Given the description of an element on the screen output the (x, y) to click on. 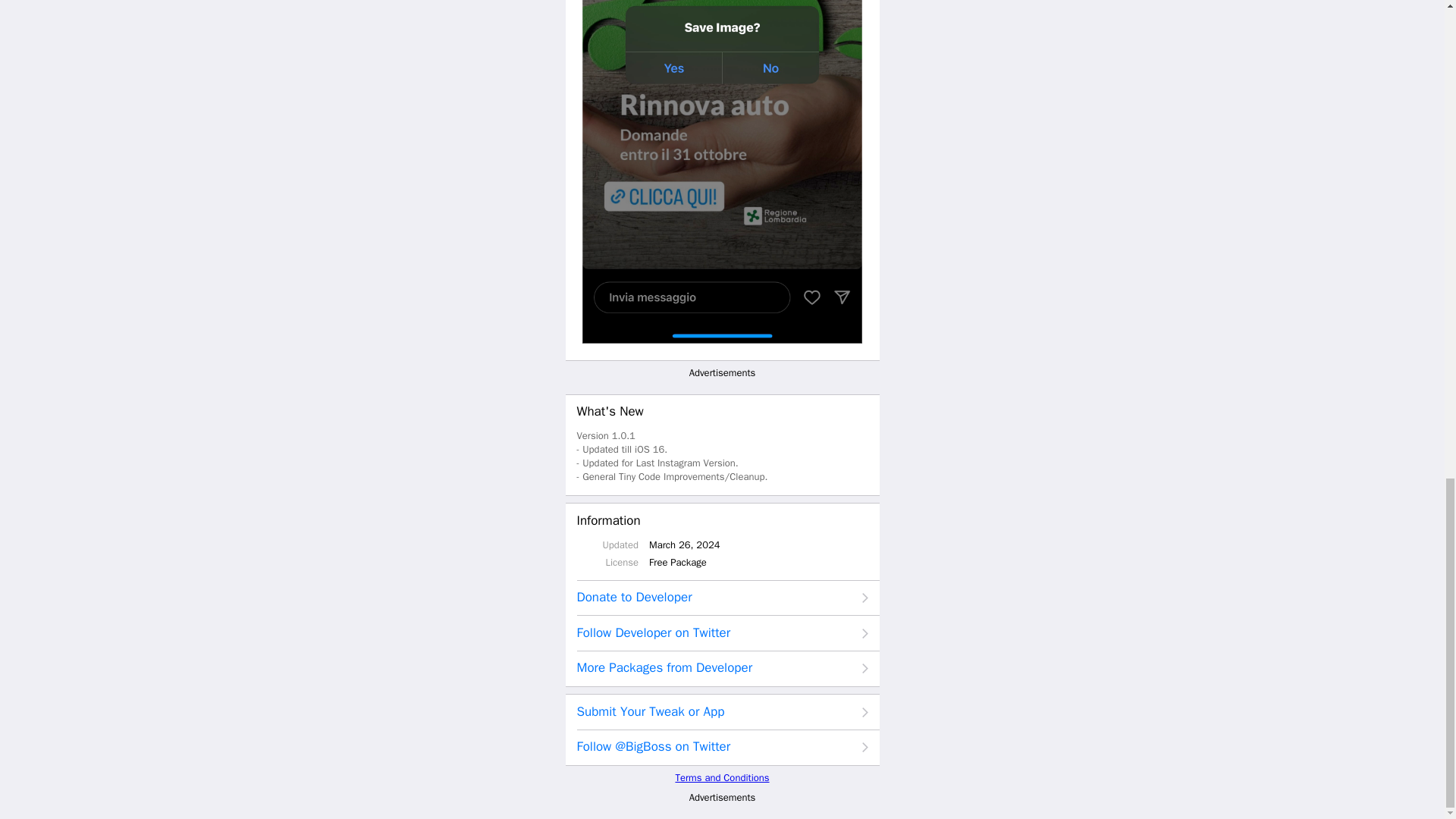
Terms and Conditions (721, 777)
Donate to Developer (721, 598)
Follow Developer on Twitter (721, 633)
Submit Your Tweak or App (721, 712)
More Packages from Developer (721, 668)
